Given the description of an element on the screen output the (x, y) to click on. 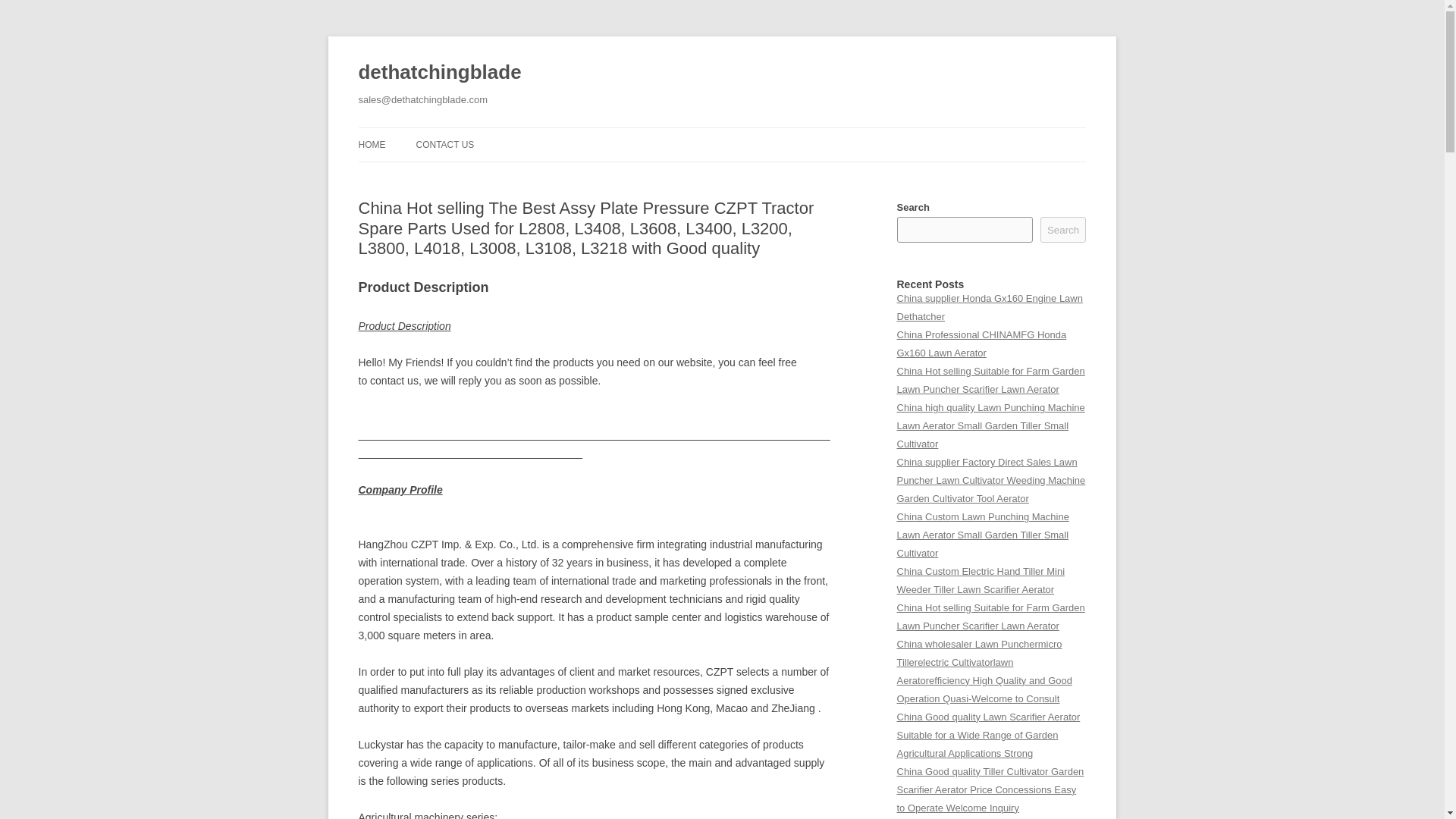
dethatchingblade (439, 72)
China supplier Honda Gx160 Engine Lawn Dethatcher (988, 307)
Search (1063, 229)
dethatchingblade (439, 72)
